Given the description of an element on the screen output the (x, y) to click on. 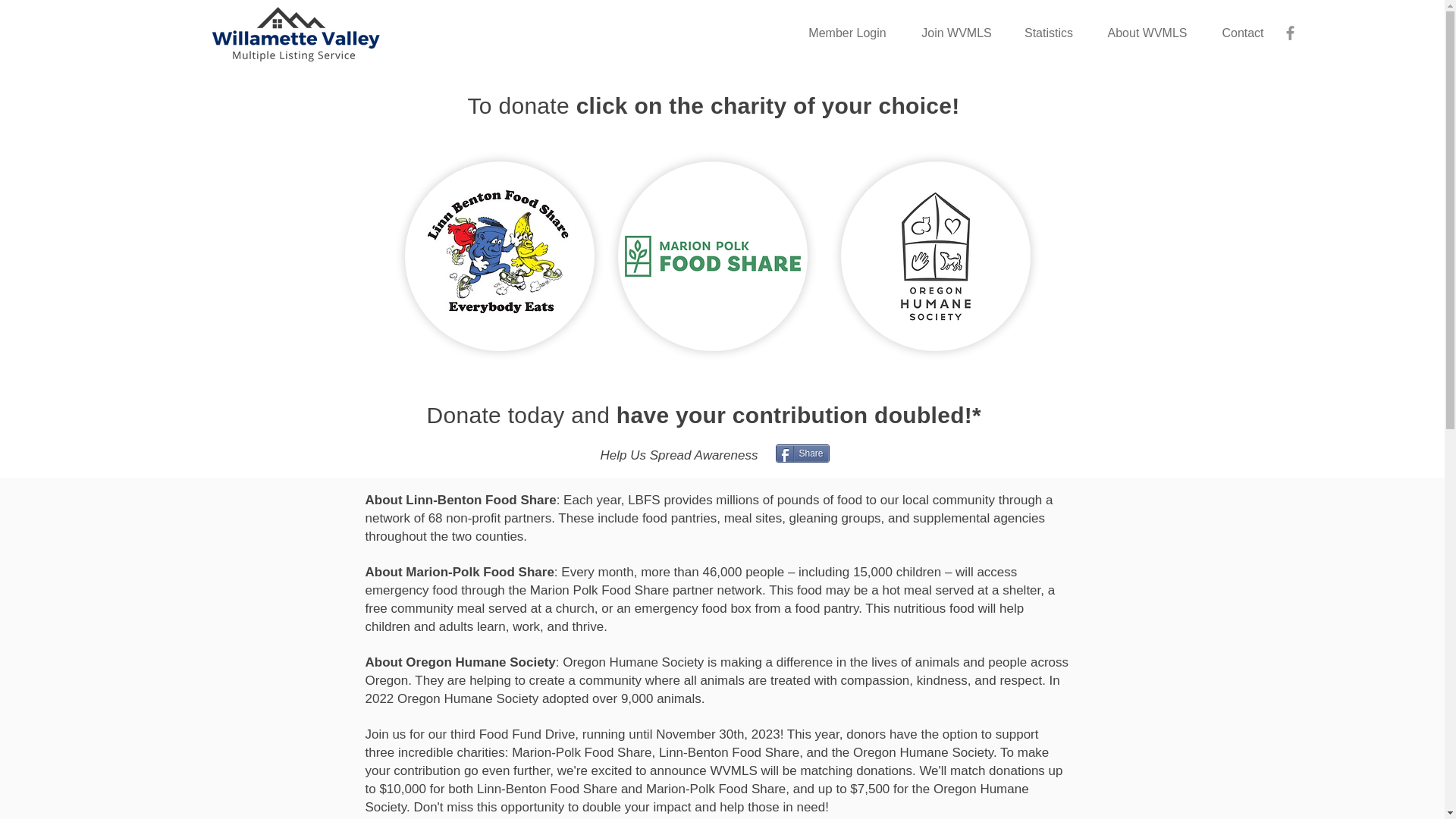
Statistics (1048, 33)
Member Login (847, 33)
About WVMLS (1147, 33)
Join WVMLS (956, 33)
Share (801, 453)
Contact (1243, 33)
Share (801, 453)
